Given the description of an element on the screen output the (x, y) to click on. 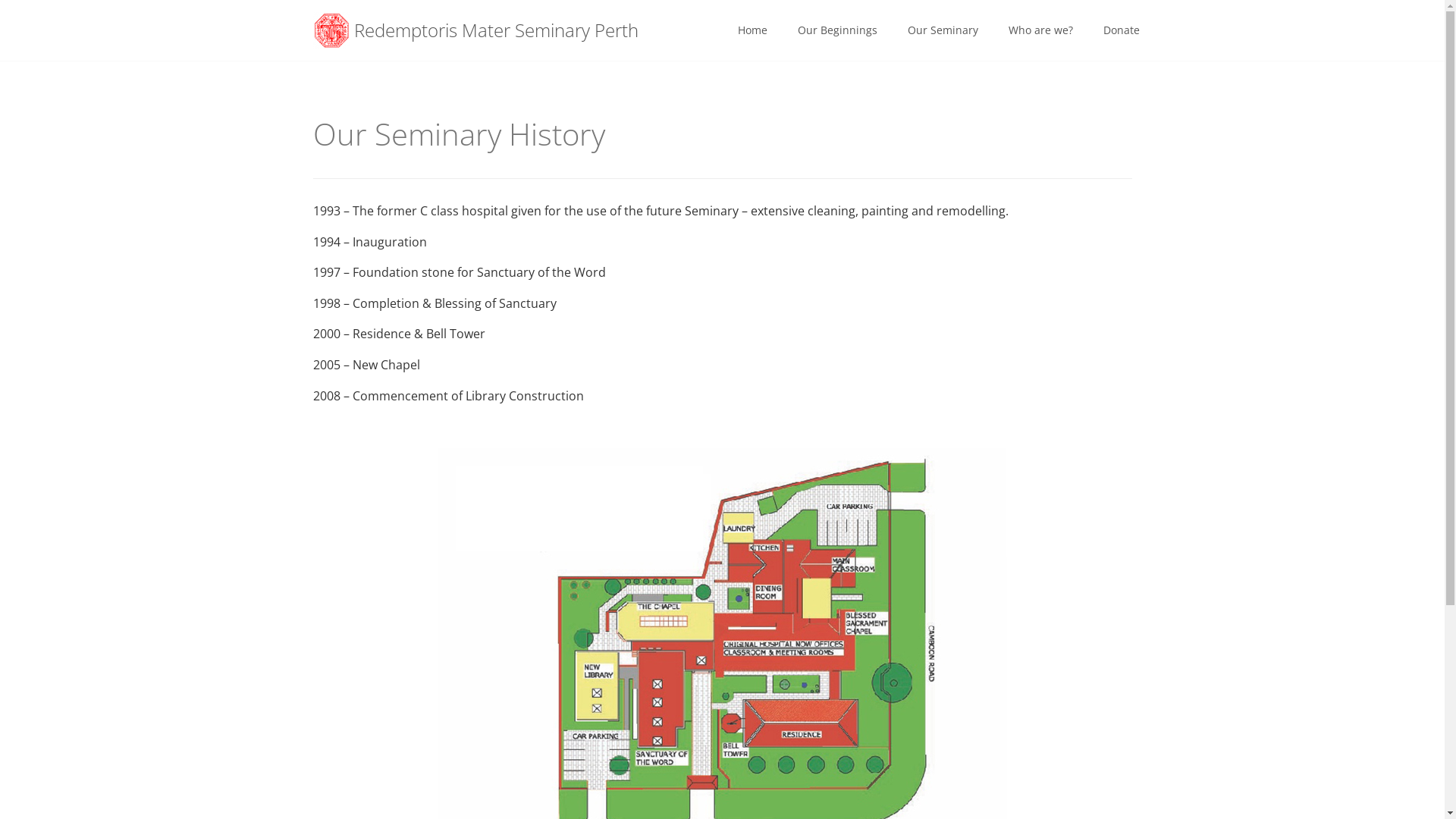
Donate Element type: text (1120, 30)
Who are we? Element type: text (1040, 30)
Our Seminary Element type: text (941, 30)
Home Element type: text (751, 30)
Our Beginnings Element type: text (837, 30)
Redemptoris Mater Seminary Perth Element type: text (475, 30)
